Given the description of an element on the screen output the (x, y) to click on. 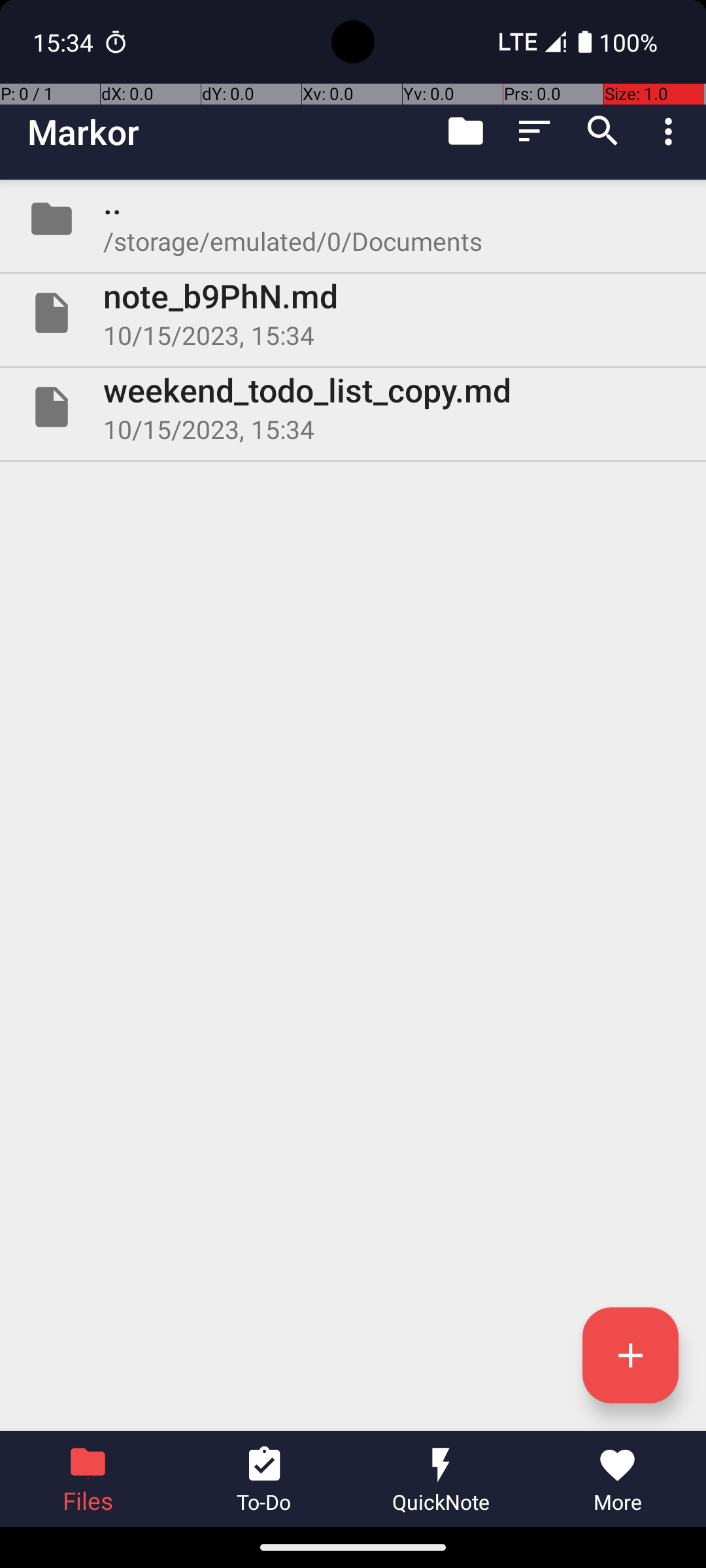
File note_b9PhN.md  Element type: android.widget.LinearLayout (353, 312)
File weekend_todo_list_copy.md  Element type: android.widget.LinearLayout (353, 406)
